Given the description of an element on the screen output the (x, y) to click on. 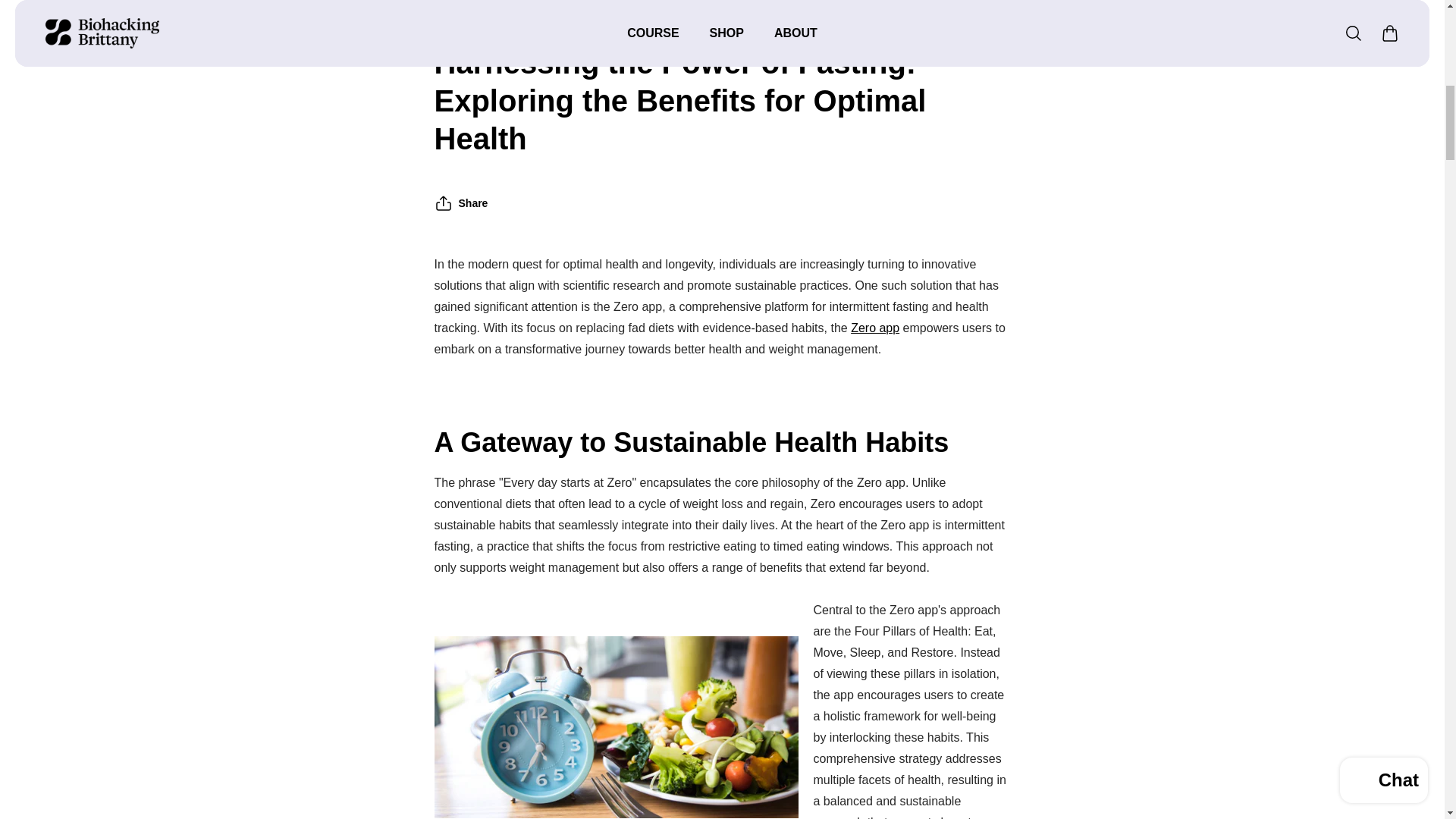
Zero app (874, 327)
zero fasting app (874, 327)
